Given the description of an element on the screen output the (x, y) to click on. 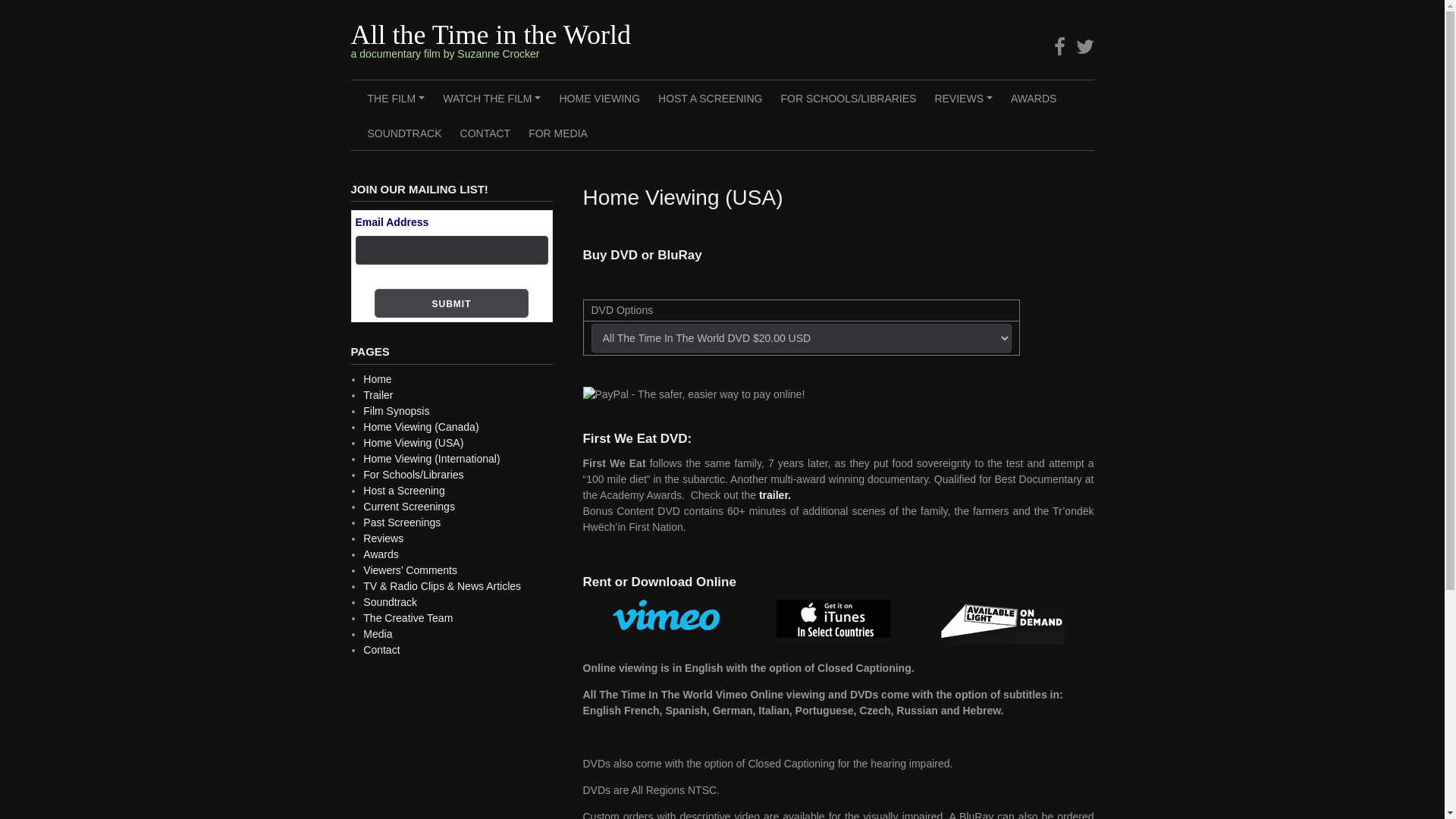
Contact Element type: text (381, 649)
Twitter Element type: text (1084, 47)
All the Time in the World Element type: text (490, 34)
Soundtrack Element type: text (390, 602)
The Creative Team Element type: text (407, 617)
AWARDS Element type: text (1033, 97)
+
THE FILM Element type: text (395, 97)
Home Viewing (International) Element type: text (431, 458)
FOR SCHOOLS/LIBRARIES Element type: text (848, 97)
Reviews Element type: text (383, 538)
Trailer Element type: text (377, 395)
SOUNDTRACK Element type: text (403, 132)
Home Viewing (Canada) Element type: text (420, 426)
Submit Element type: text (451, 302)
Facebook Element type: text (1059, 47)
Home Element type: text (377, 379)
CONTACT Element type: text (485, 132)
+
WATCH THE FILM Element type: text (491, 97)
TV & Radio Clips & News Articles Element type: text (441, 586)
Home Viewing (USA) Element type: text (413, 442)
Awards Element type: text (380, 554)
Host a Screening Element type: text (403, 490)
Film Synopsis Element type: text (396, 410)
For Schools/Libraries Element type: text (413, 474)
FOR MEDIA Element type: text (557, 132)
Past Screenings Element type: text (401, 522)
+
REVIEWS Element type: text (963, 97)
Current Screenings Element type: text (409, 506)
Media Element type: text (377, 633)
trailer. Element type: text (774, 495)
HOME VIEWING Element type: text (599, 97)
HOST A SCREENING Element type: text (710, 97)
